Given the description of an element on the screen output the (x, y) to click on. 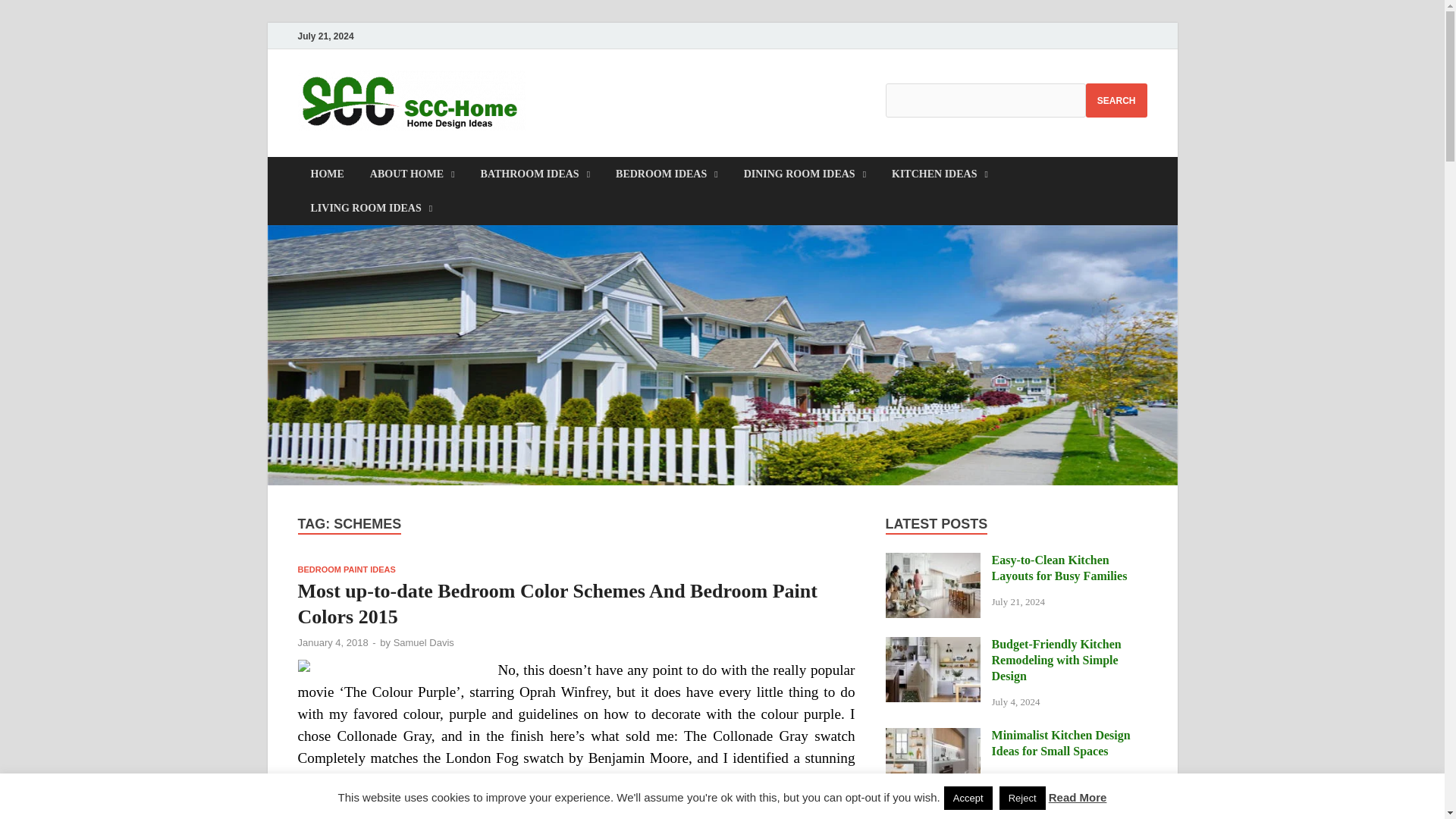
BEDROOM IDEAS (666, 173)
HOME (326, 173)
Budget-Friendly Kitchen Remodeling with Simple Design (932, 645)
ABOUT HOME (411, 173)
Easy-to-Clean Kitchen Layouts for Busy Families (932, 561)
BATHROOM IDEAS (534, 173)
SEARCH (1116, 100)
SCC-Home (608, 100)
DINING ROOM IDEAS (804, 173)
Minimalist Kitchen Design Ideas for Small Spaces (932, 736)
